Given the description of an element on the screen output the (x, y) to click on. 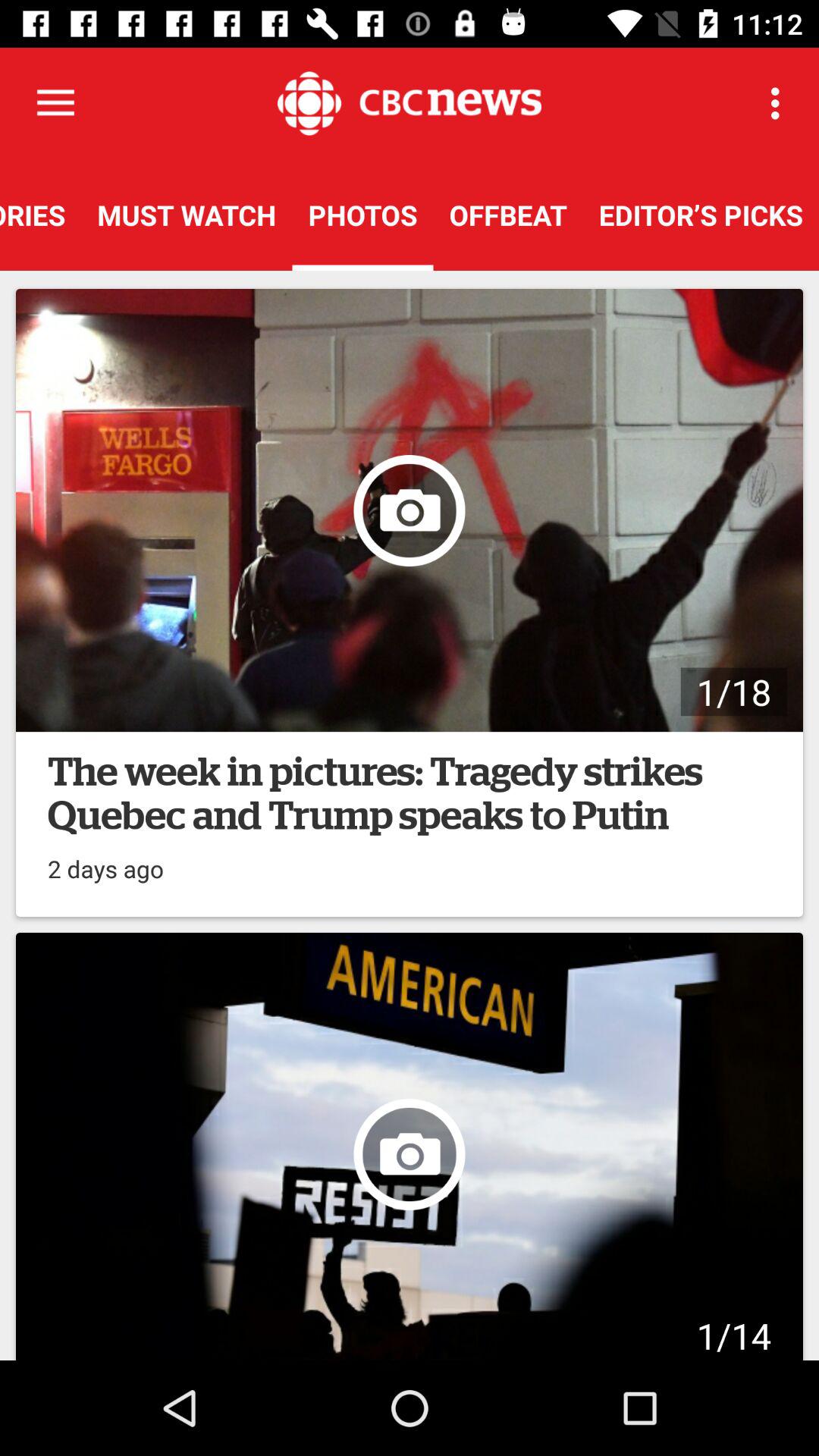
press the item next to offbeat icon (779, 103)
